Given the description of an element on the screen output the (x, y) to click on. 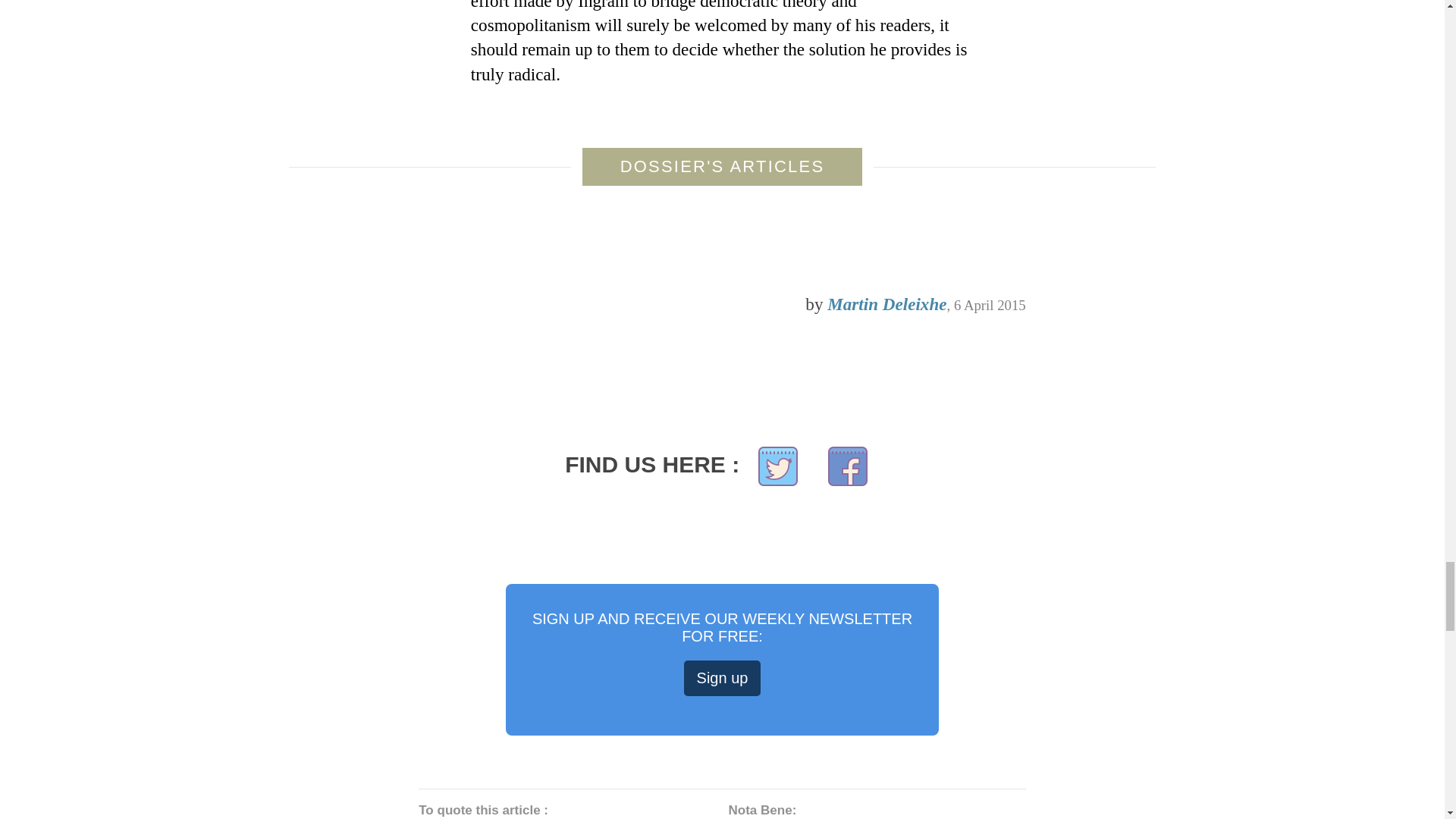
Sign up (722, 678)
Sign up (722, 678)
Martin Deleixhe (886, 303)
